Given the description of an element on the screen output the (x, y) to click on. 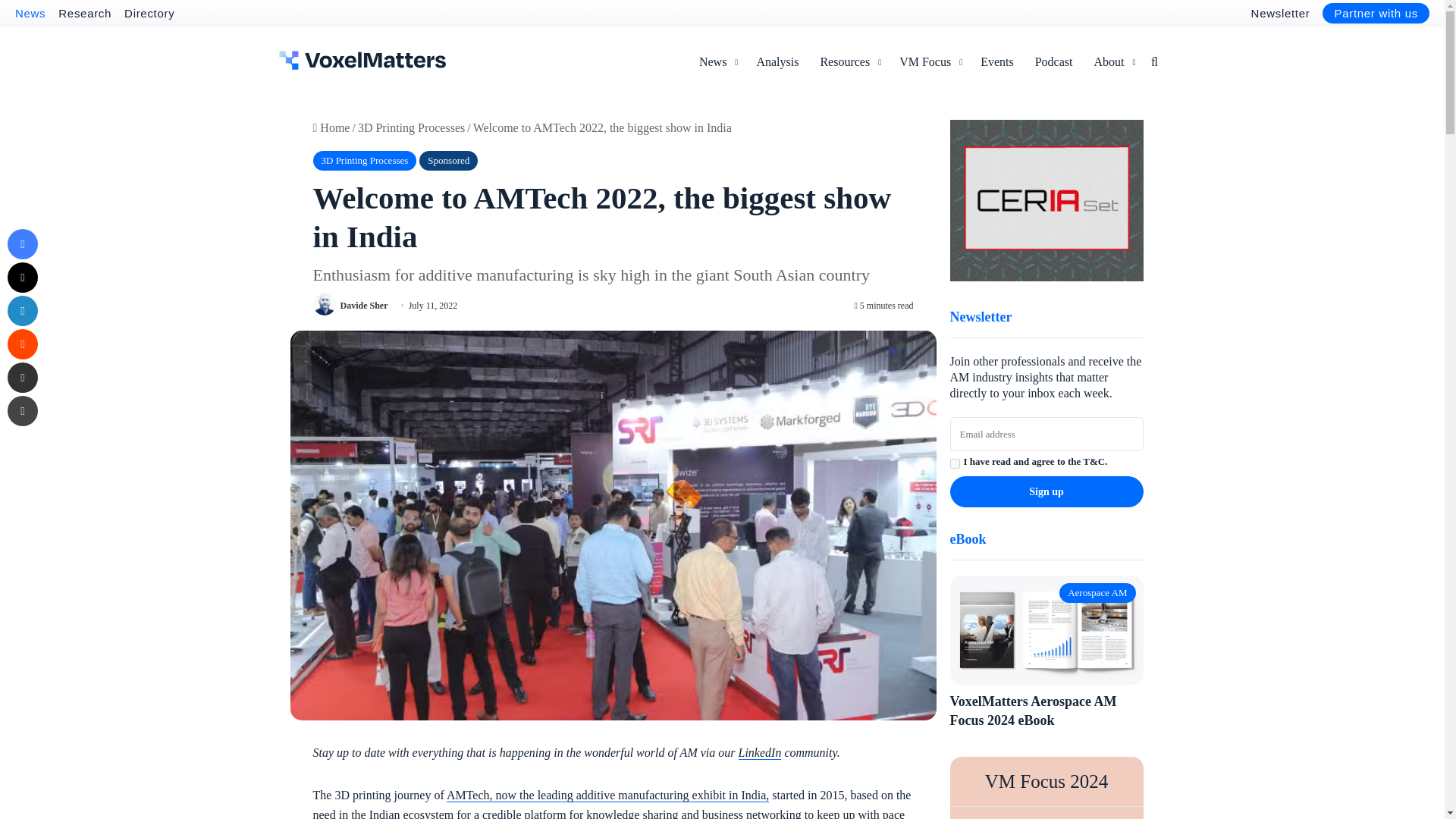
1 (954, 463)
Reddit (22, 344)
News (29, 12)
Facebook (22, 244)
Directory (148, 12)
Partner with us (1375, 13)
Research (85, 12)
Newsletter (1280, 12)
Sign up (1045, 490)
Share via Email (22, 377)
X (22, 277)
VoxelMatters - The heart of additive manufacturing (362, 60)
Davide Sher (363, 305)
Analysis (777, 62)
Resources (848, 62)
